Given the description of an element on the screen output the (x, y) to click on. 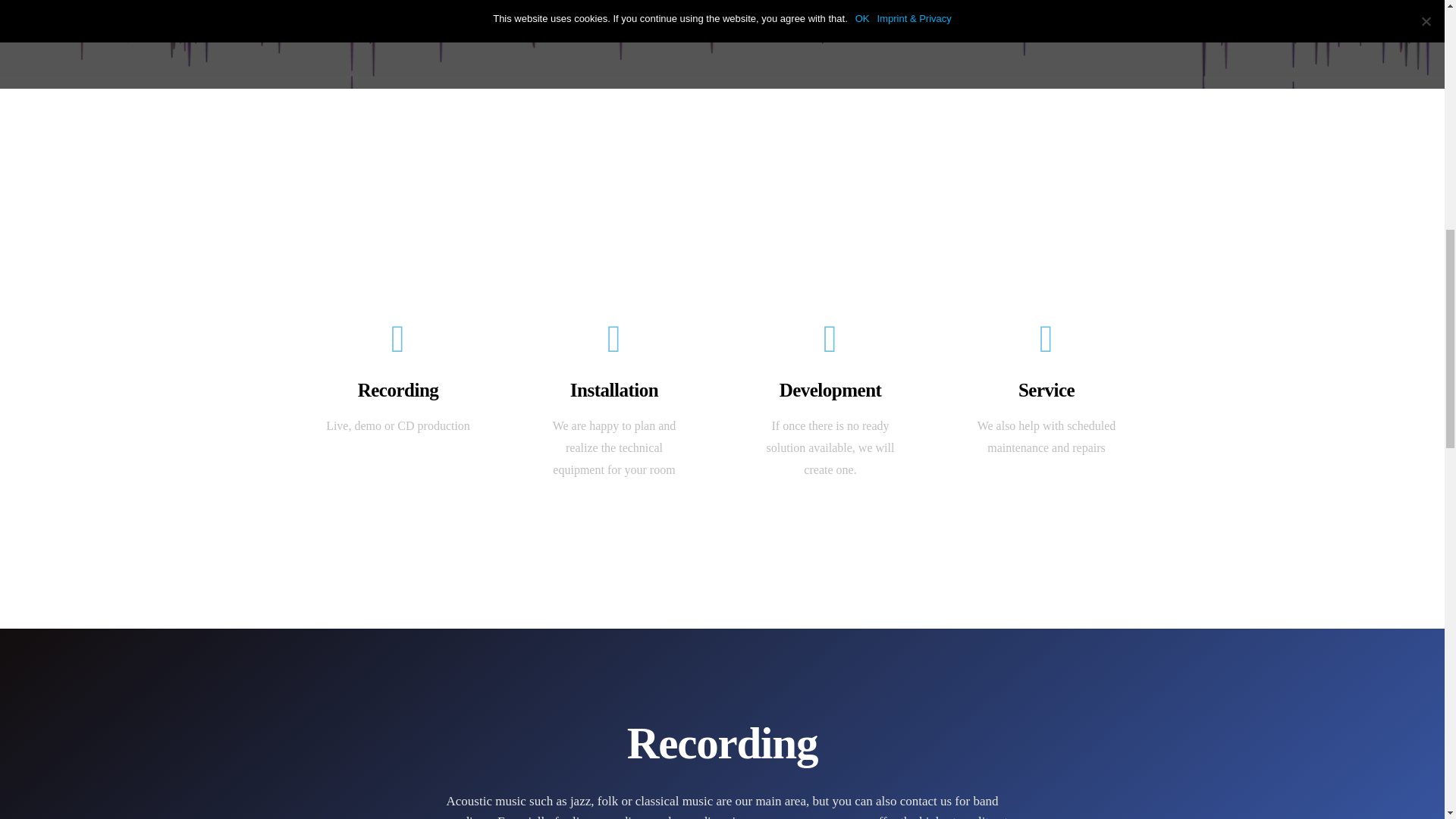
Recording (398, 390)
Development (830, 390)
Service (1045, 390)
Installation (614, 390)
